Given the description of an element on the screen output the (x, y) to click on. 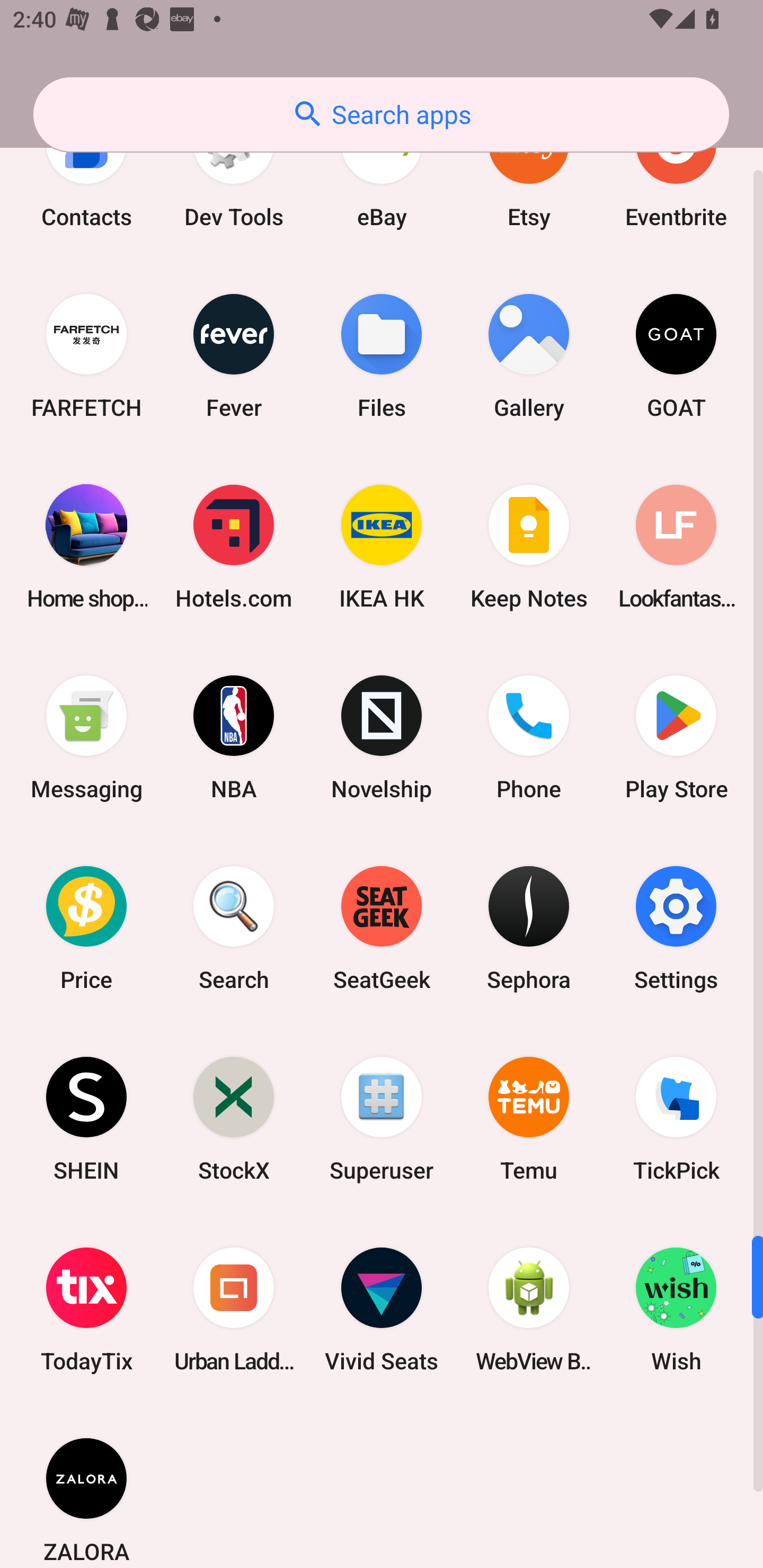
  Search apps (381, 114)
FARFETCH (86, 355)
Fever (233, 355)
Files (381, 355)
Gallery (528, 355)
GOAT (676, 355)
Home shopping (86, 546)
Hotels.com (233, 546)
IKEA HK (381, 546)
Keep Notes (528, 546)
Lookfantastic (676, 546)
Messaging (86, 736)
NBA (233, 736)
Novelship (381, 736)
Phone (528, 736)
Play Store (676, 736)
Price (86, 927)
Search (233, 927)
SeatGeek (381, 927)
Sephora (528, 927)
Settings (676, 927)
SHEIN (86, 1118)
StockX (233, 1118)
Superuser (381, 1118)
Temu (528, 1118)
TickPick (676, 1118)
TodayTix (86, 1308)
Urban Ladder (233, 1308)
Vivid Seats (381, 1308)
WebView Browser Tester (528, 1308)
Wish (676, 1308)
ZALORA (86, 1486)
